Given the description of an element on the screen output the (x, y) to click on. 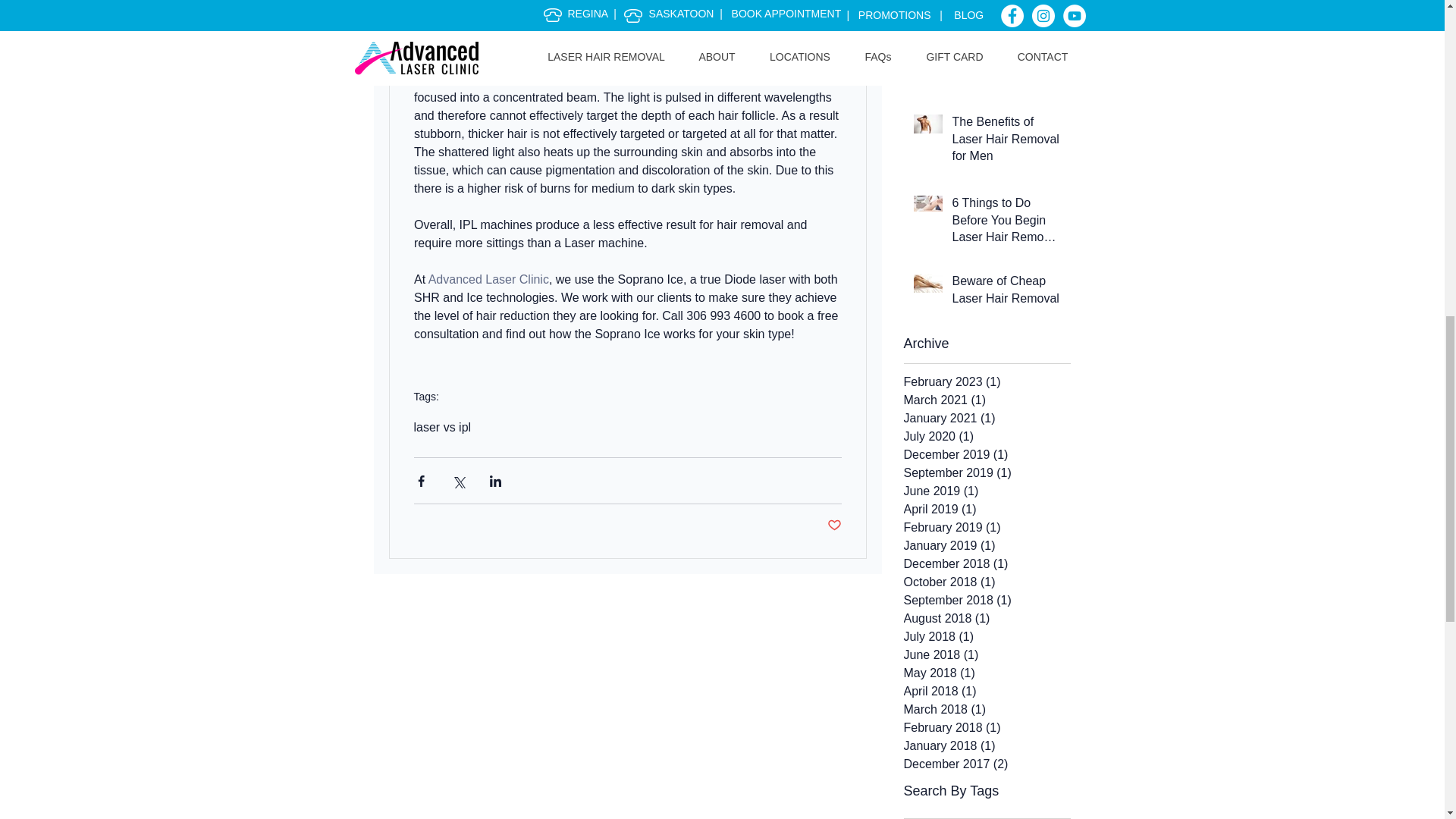
laser vs ipl (442, 427)
Celebrities that Love Laser Hair Removal (1006, 62)
The Benefits of Laser Hair Removal for Men (1006, 141)
Advanced Laser Clinic (488, 278)
6 Things to Do Before You Begin Laser Hair Removal Treatment (1006, 222)
Post not marked as liked (834, 525)
Beware of Cheap Laser Hair Removal (1006, 292)
